Given the description of an element on the screen output the (x, y) to click on. 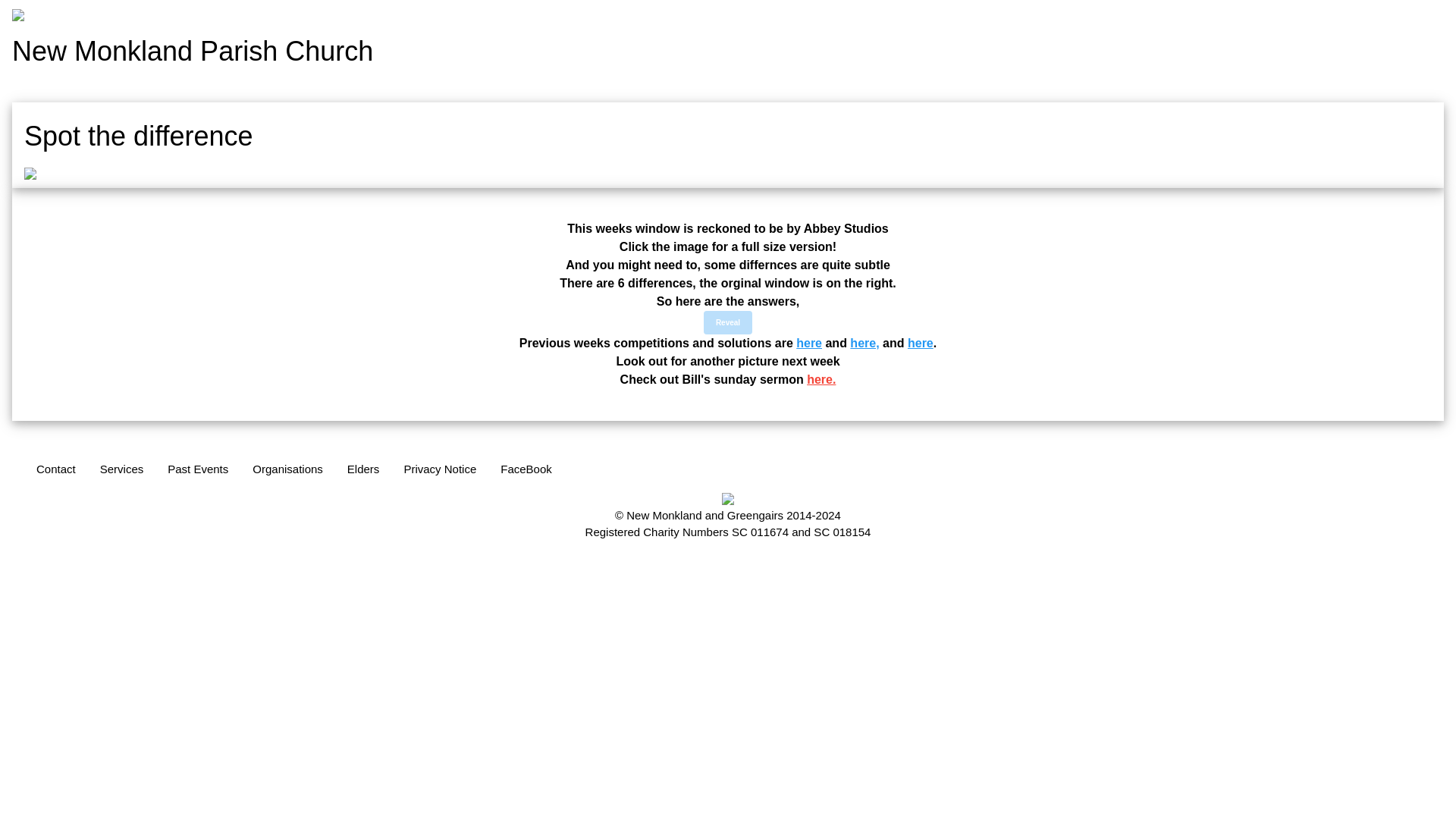
here, (864, 342)
Past Events (233, 470)
Contact (195, 471)
Elders (367, 469)
here (920, 342)
Services (201, 471)
Organisations (298, 469)
FaceBook (525, 469)
Privacy Notice (440, 469)
here (809, 342)
